Given the description of an element on the screen output the (x, y) to click on. 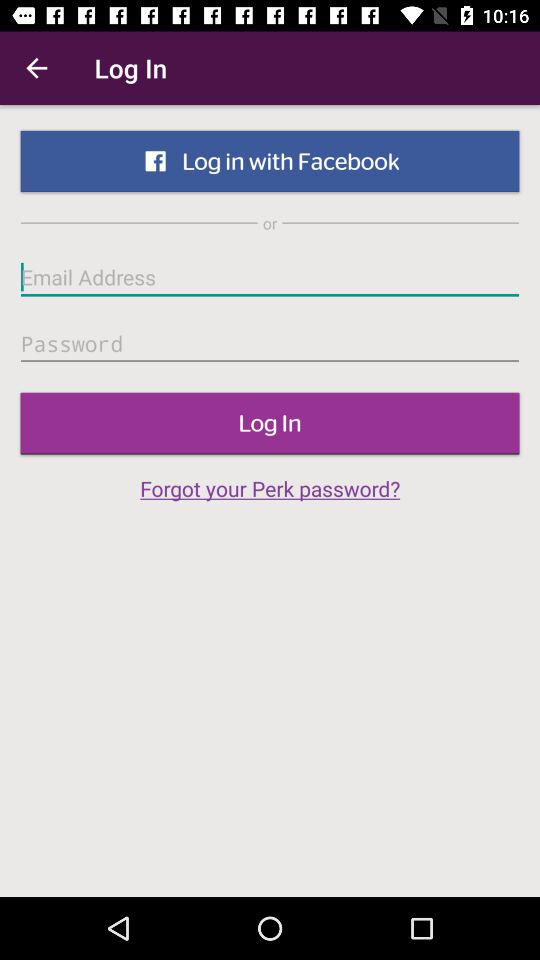
press icon to the left of the log in icon (36, 68)
